Given the description of an element on the screen output the (x, y) to click on. 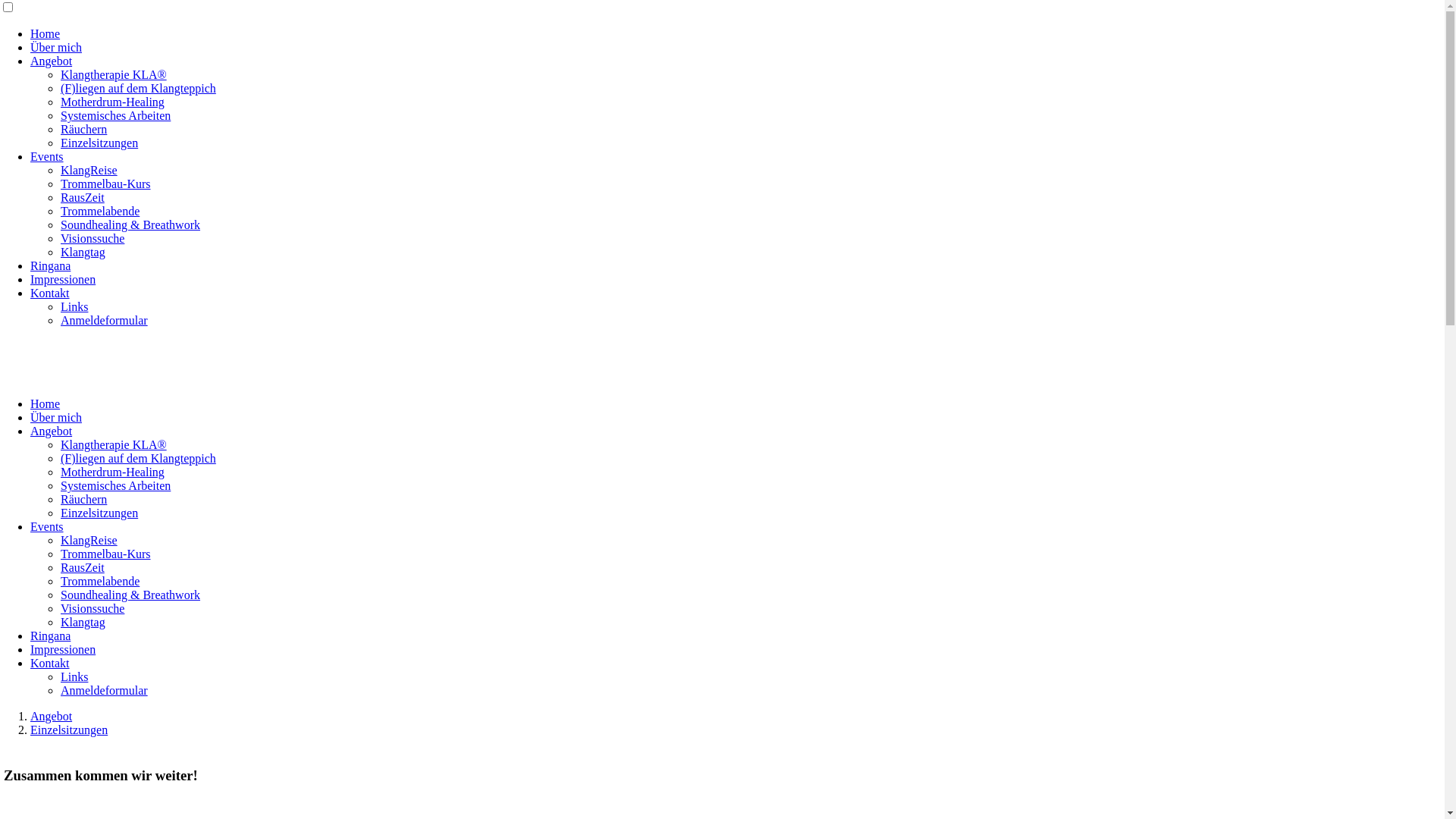
Systemisches Arbeiten Element type: text (115, 115)
Ringana Element type: text (50, 635)
Angebot Element type: text (51, 715)
Impressionen Element type: text (62, 279)
Motherdrum-Healing Element type: text (112, 471)
Trommelabende Element type: text (99, 210)
Anmeldeformular Element type: text (103, 690)
Einzelsitzungen Element type: text (99, 142)
Visionssuche Element type: text (92, 238)
Trommelbau-Kurs Element type: text (105, 553)
RausZeit Element type: text (82, 567)
Soundhealing & Breathwork Element type: text (130, 594)
Home Element type: text (44, 403)
Klangtag Element type: text (82, 621)
(F)liegen auf dem Klangteppich Element type: text (138, 457)
Angebot Element type: text (51, 430)
KlangReise Element type: text (88, 539)
Ringana Element type: text (50, 265)
Impressionen Element type: text (62, 649)
Soundhealing & Breathwork Element type: text (130, 224)
Einzelsitzungen Element type: text (99, 512)
Systemisches Arbeiten Element type: text (115, 485)
KlangReise Element type: text (88, 169)
Motherdrum-Healing Element type: text (112, 101)
Events Element type: text (46, 526)
Links Element type: text (73, 676)
RausZeit Element type: text (82, 197)
Events Element type: text (46, 156)
Home Element type: text (44, 33)
Kontakt Element type: text (49, 292)
Links Element type: text (73, 306)
Visionssuche Element type: text (92, 608)
Einzelsitzungen Element type: text (68, 729)
Anmeldeformular Element type: text (103, 319)
Angebot Element type: text (51, 60)
(F)liegen auf dem Klangteppich Element type: text (138, 87)
Trommelbau-Kurs Element type: text (105, 183)
Trommelabende Element type: text (99, 580)
Kontakt Element type: text (49, 662)
Klangtag Element type: text (82, 251)
